Given the description of an element on the screen output the (x, y) to click on. 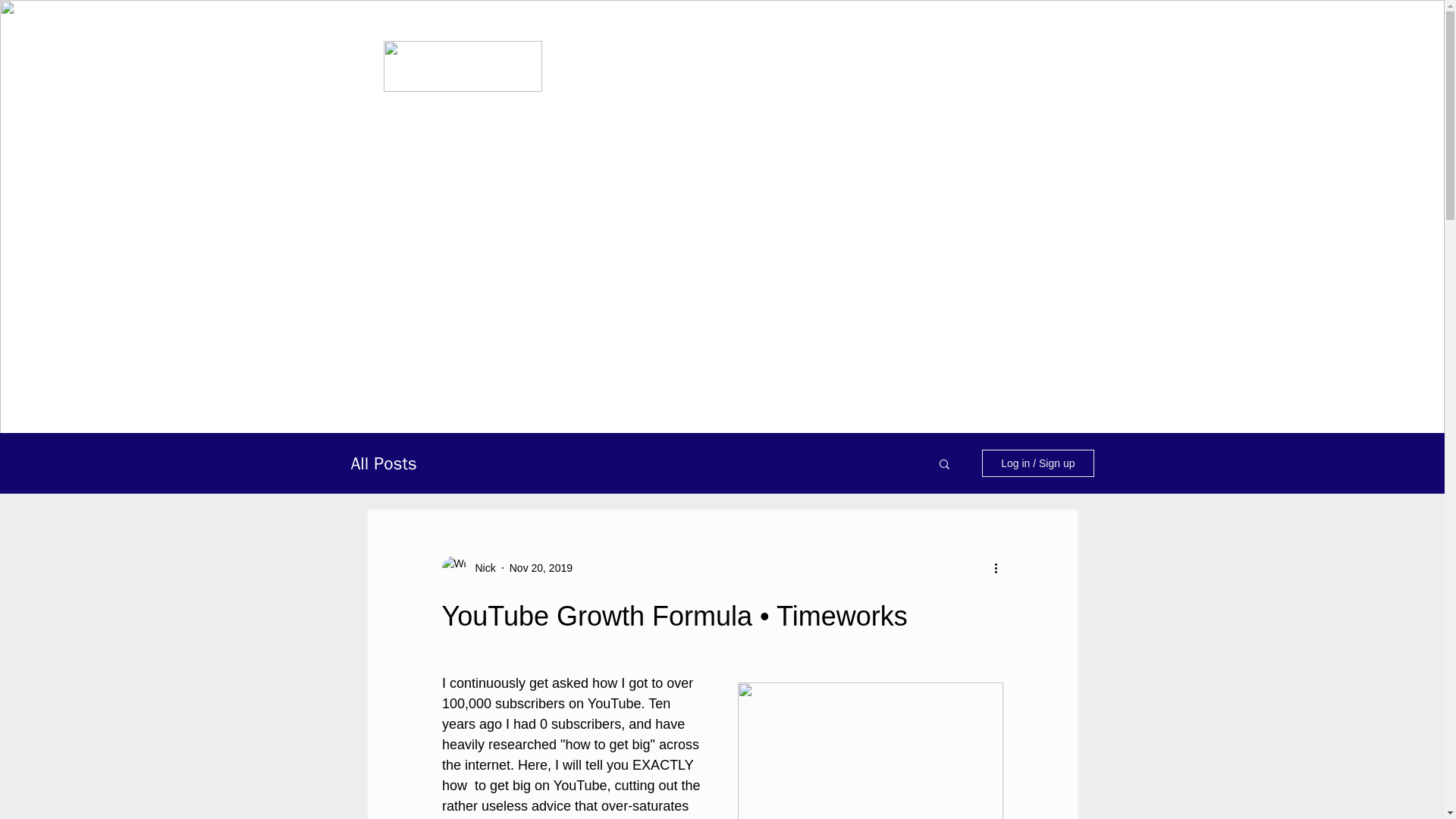
All Posts (383, 463)
Nick (468, 567)
timeworkslogoname.png (462, 65)
Nov 20, 2019 (540, 567)
Nick (480, 567)
